Given the description of an element on the screen output the (x, y) to click on. 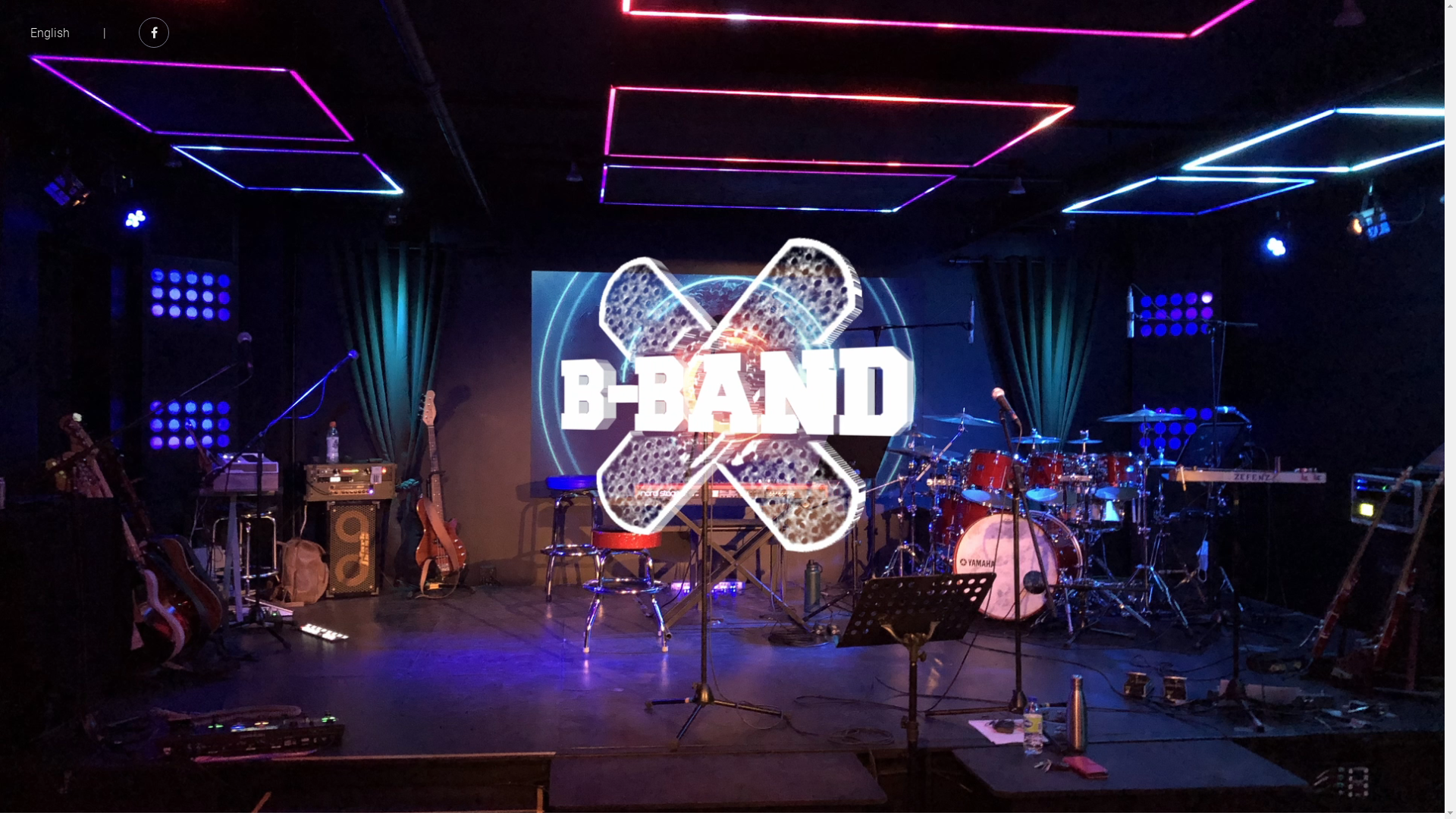
English Element type: text (49, 32)
